Given the description of an element on the screen output the (x, y) to click on. 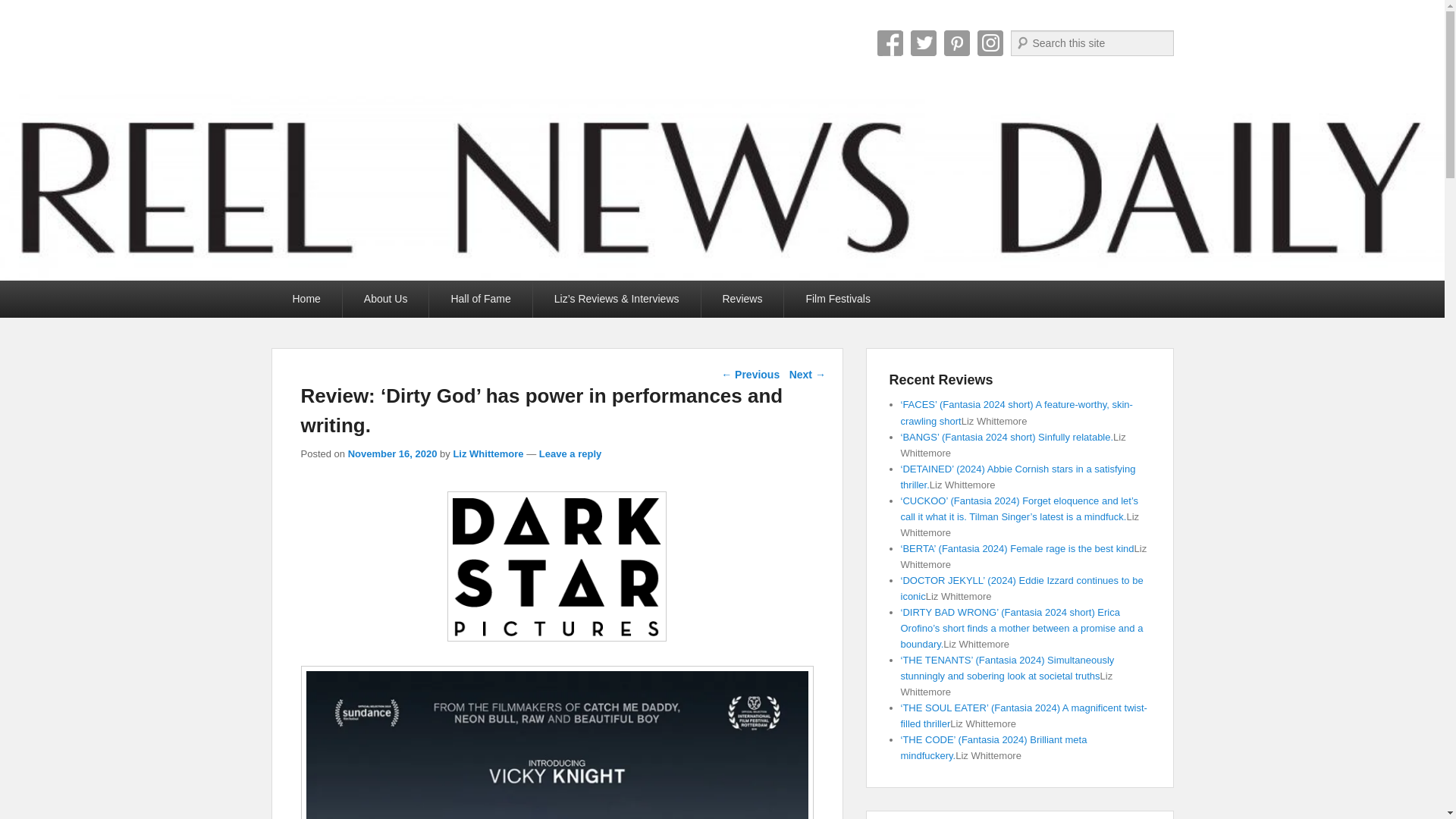
Facebook (889, 43)
Liz Whittemore (487, 453)
Instagram (989, 43)
Pinterest (956, 43)
Facebook (889, 43)
Reel News Daily (404, 48)
November 16, 2020 (392, 453)
Twitter (923, 43)
Leave a reply (569, 453)
7:12 pm (392, 453)
